Given the description of an element on the screen output the (x, y) to click on. 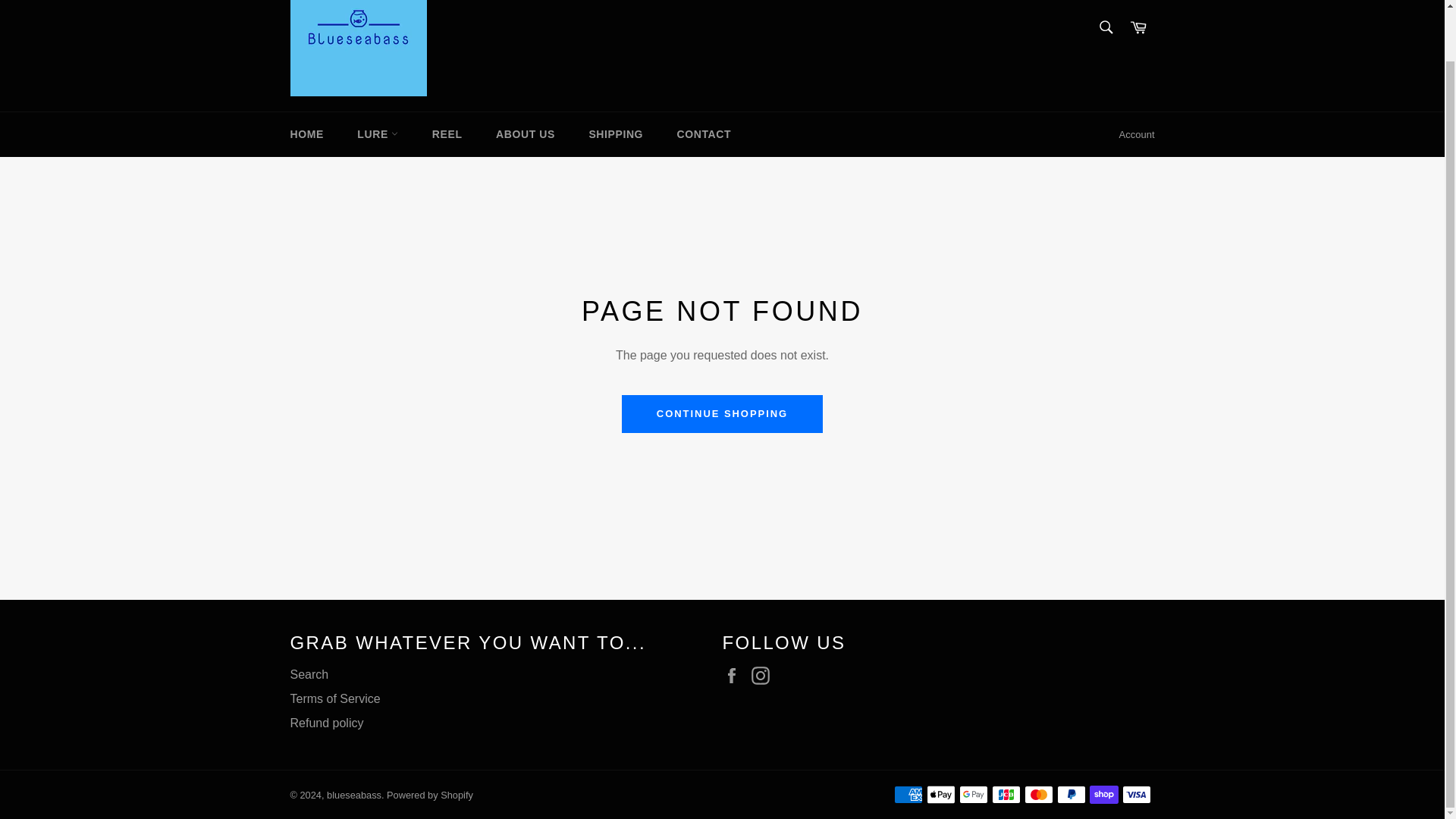
Terms of Service (334, 698)
Facebook (735, 675)
CONTINUE SHOPPING (721, 413)
Instagram (764, 675)
Refund policy (325, 722)
CONTACT (704, 134)
REEL (446, 134)
HOME (306, 134)
blueseabass (353, 794)
Search (309, 674)
Powered by Shopify (430, 794)
Cart (1138, 28)
ABOUT US (525, 134)
blueseabass on Instagram (764, 675)
SHIPPING (615, 134)
